Given the description of an element on the screen output the (x, y) to click on. 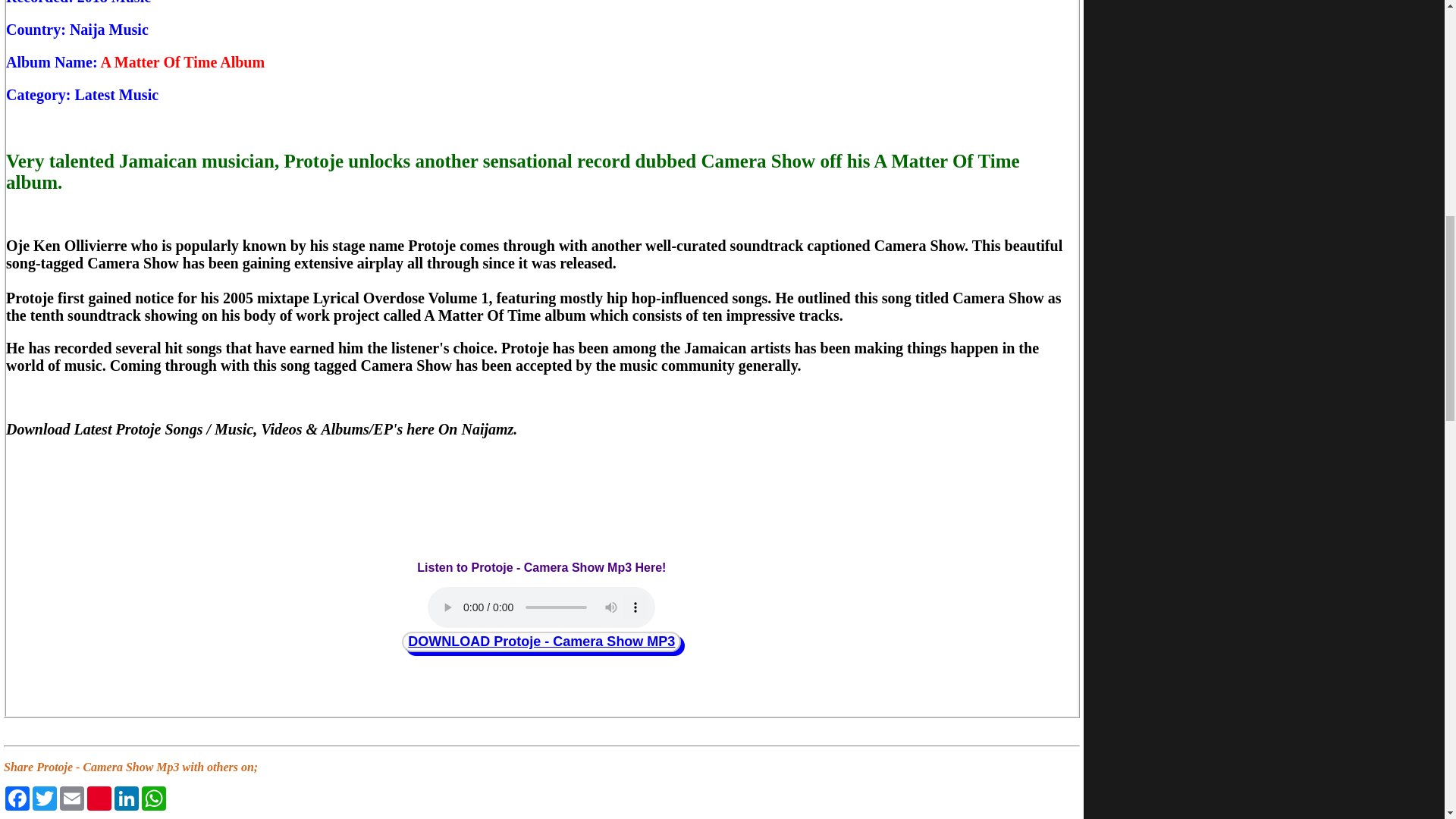
Pinterest (99, 798)
Twitter (44, 798)
Facebook (17, 798)
2018 Music (114, 2)
A Matter Of Time Album (182, 62)
Naija Music (108, 29)
LinkedIn (126, 798)
Email (71, 798)
WhatsApp (153, 798)
DOWNLOAD Protoje - Camera Show MP3 (541, 641)
